Given the description of an element on the screen output the (x, y) to click on. 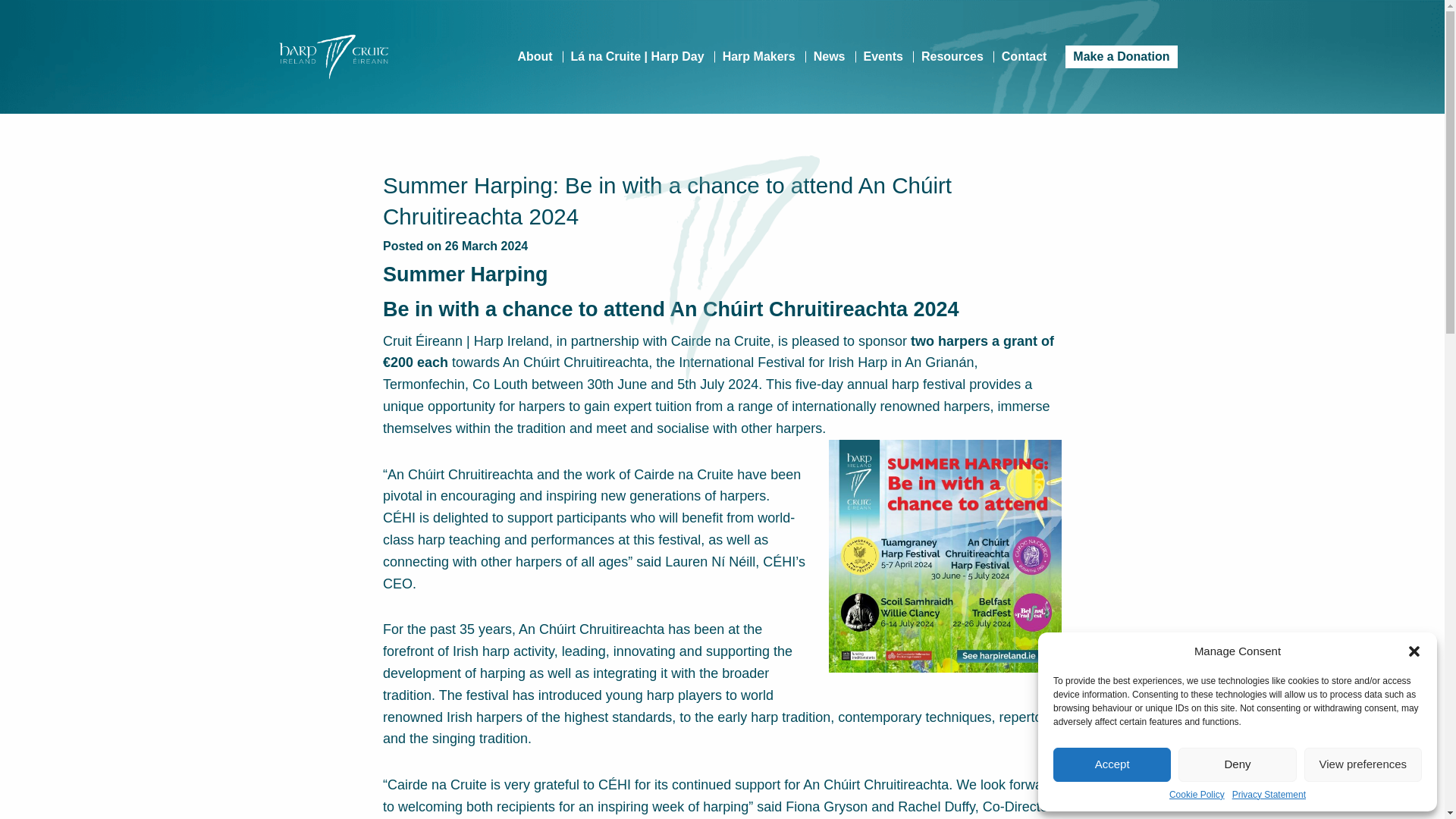
Cookie Policy (1196, 794)
Privacy Statement (1268, 794)
About (533, 56)
Deny (1236, 764)
View preferences (1363, 764)
Accept (1111, 764)
